Given the description of an element on the screen output the (x, y) to click on. 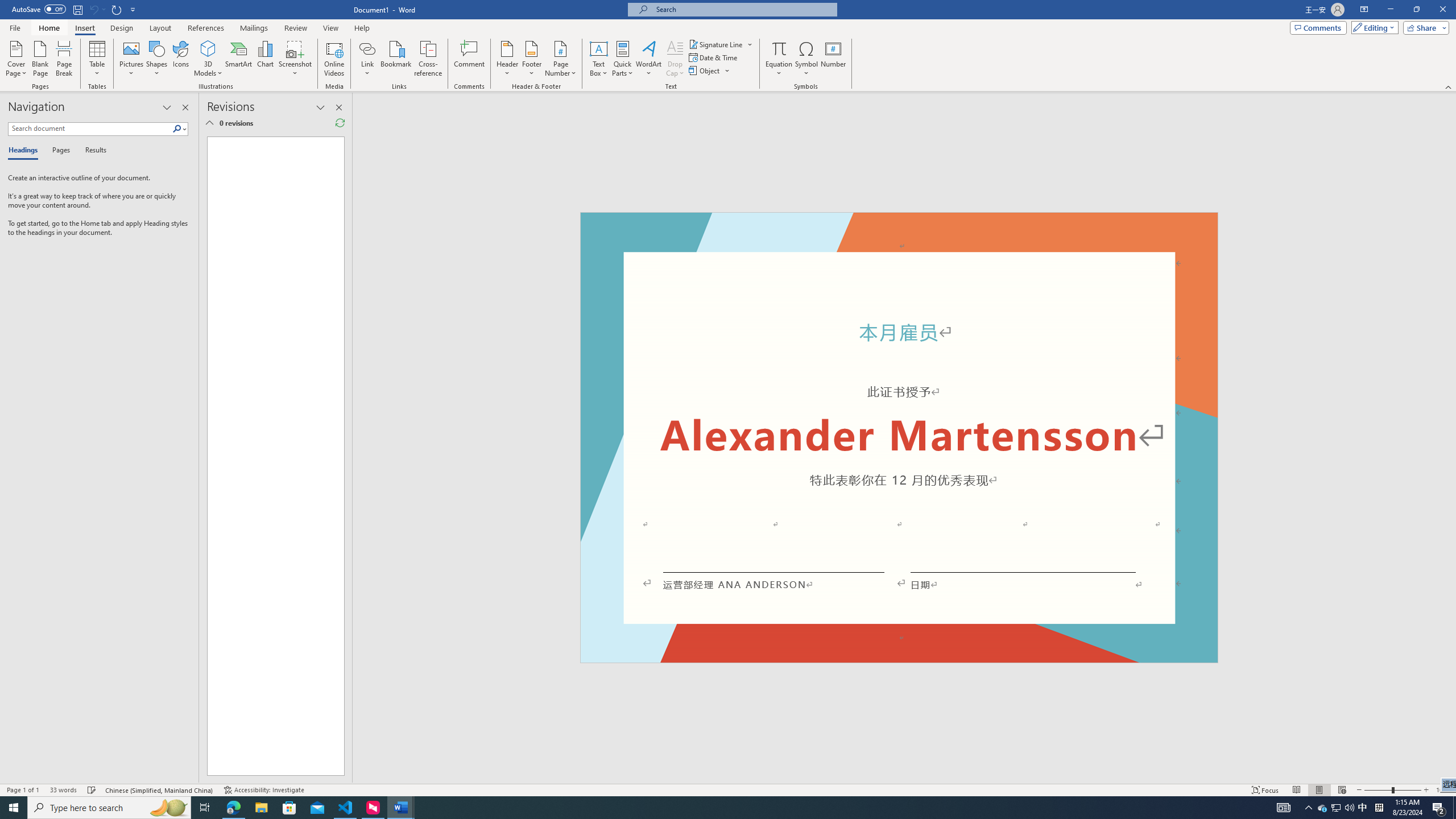
Can't Undo (96, 9)
Signature Line (716, 44)
Chart... (265, 58)
Footer (531, 58)
Repeat Doc Close (117, 9)
Page 1 content (898, 445)
Zoom 100% (1443, 790)
3D Models (208, 58)
